Given the description of an element on the screen output the (x, y) to click on. 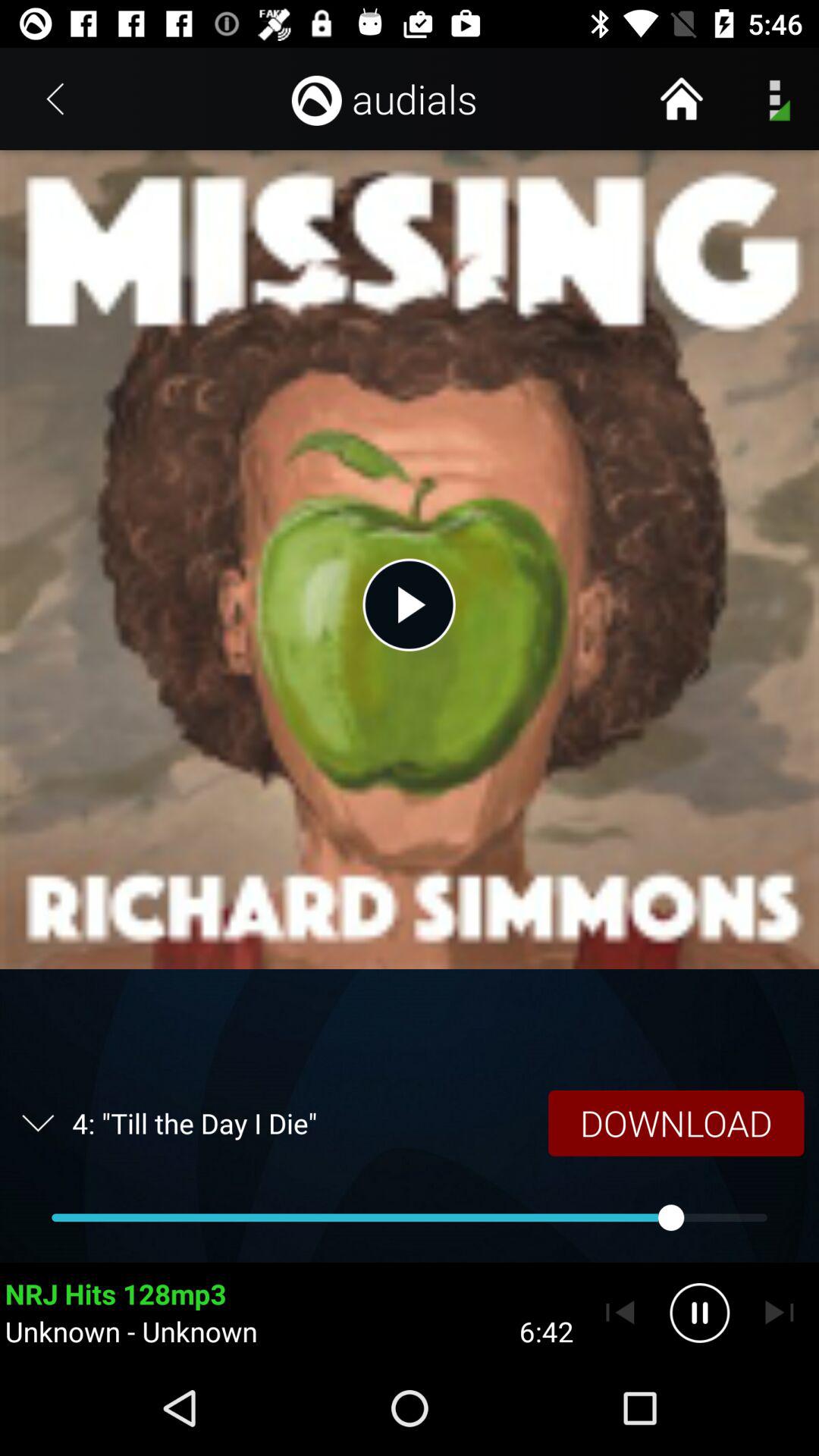
previous play (619, 1312)
